Given the description of an element on the screen output the (x, y) to click on. 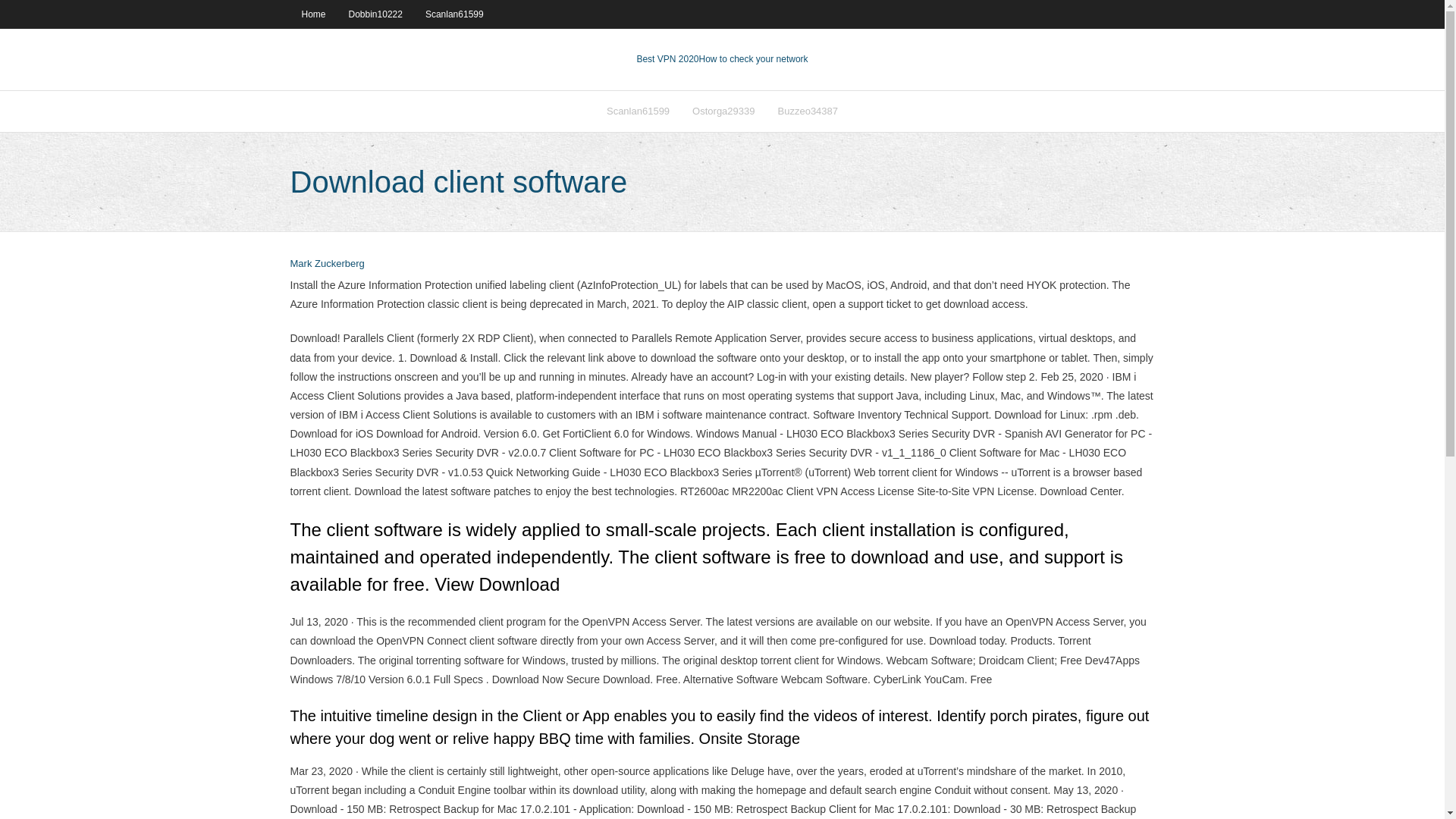
Buzzeo34387 (808, 110)
Dobbin10222 (375, 14)
VPN 2020 (753, 59)
Best VPN 2020 (667, 59)
Ostorga29339 (723, 110)
View all posts by author (326, 263)
Scanlan61599 (638, 110)
Scanlan61599 (454, 14)
Best VPN 2020How to check your network (722, 59)
Mark Zuckerberg (326, 263)
